Given the description of an element on the screen output the (x, y) to click on. 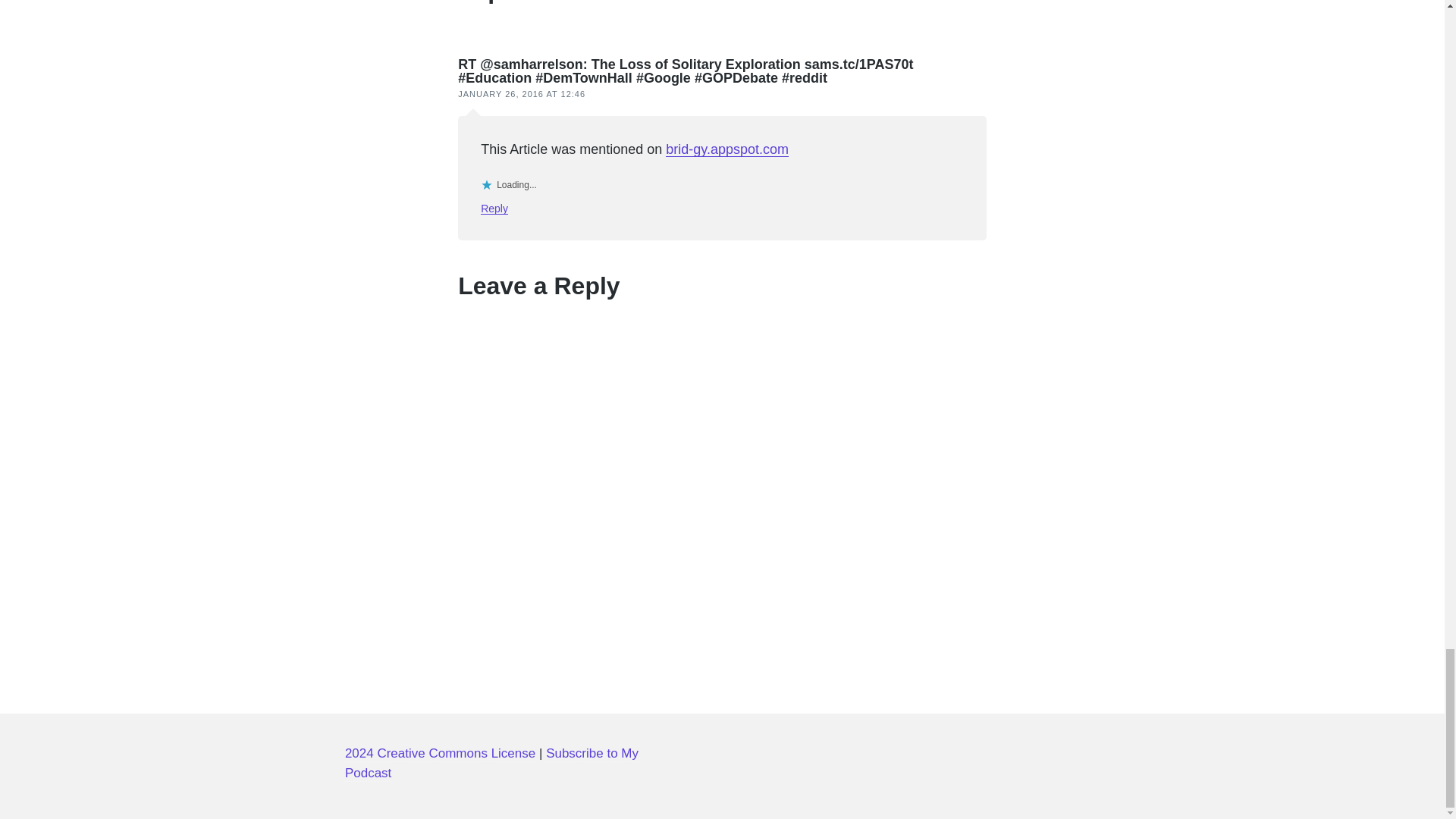
Subscribe to My Podcast (492, 764)
Reply (494, 208)
2024 Creative Commons License (440, 754)
JANUARY 26, 2016 AT 12:46 (521, 93)
brid-gy.appspot.com (727, 149)
